Given the description of an element on the screen output the (x, y) to click on. 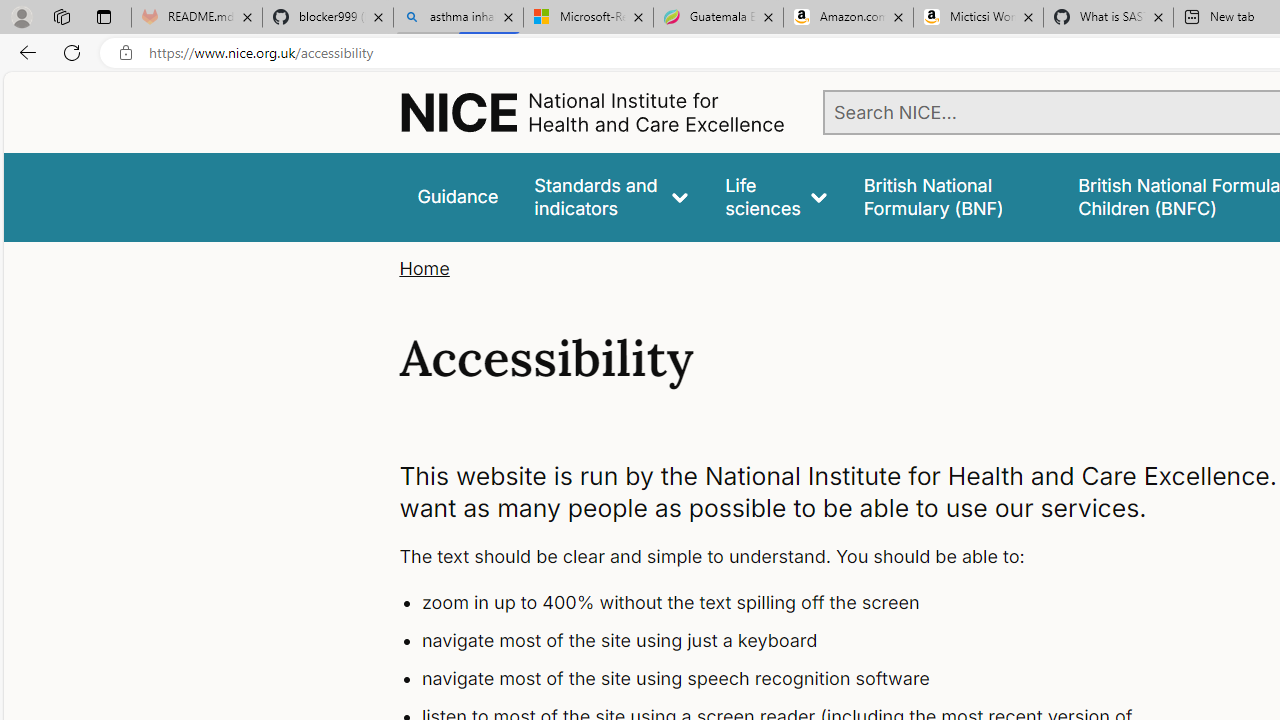
navigate most of the site using just a keyboard (796, 641)
false (952, 196)
Guidance (458, 196)
zoom in up to 400% without the text spilling off the screen (796, 603)
Life sciences (776, 196)
